Given the description of an element on the screen output the (x, y) to click on. 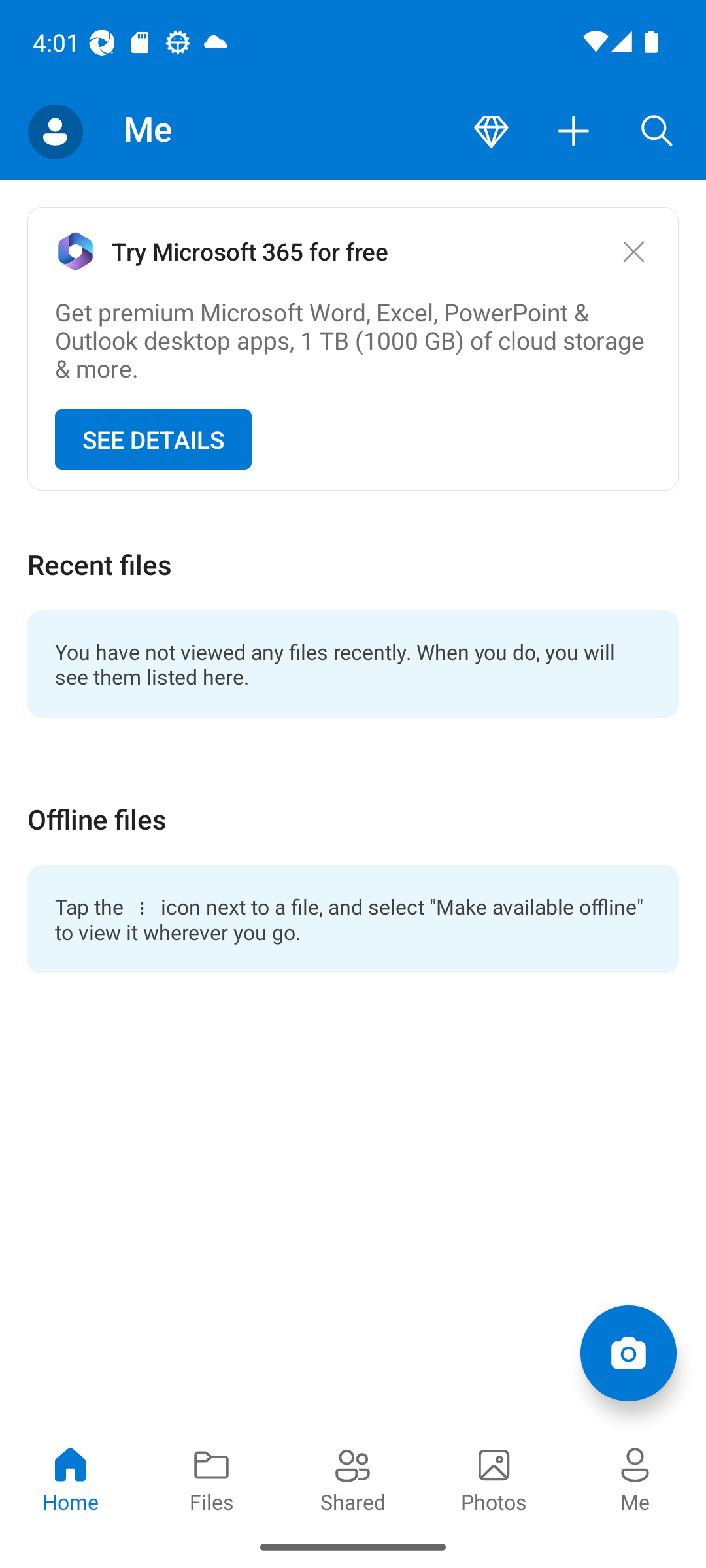
Account switcher (55, 131)
Premium button (491, 131)
More actions button (574, 131)
Search button (656, 131)
Close (633, 251)
SEE DETAILS (153, 439)
Scan (628, 1352)
Files pivot Files (211, 1478)
Shared pivot Shared (352, 1478)
Photos pivot Photos (493, 1478)
Me pivot Me (635, 1478)
